Given the description of an element on the screen output the (x, y) to click on. 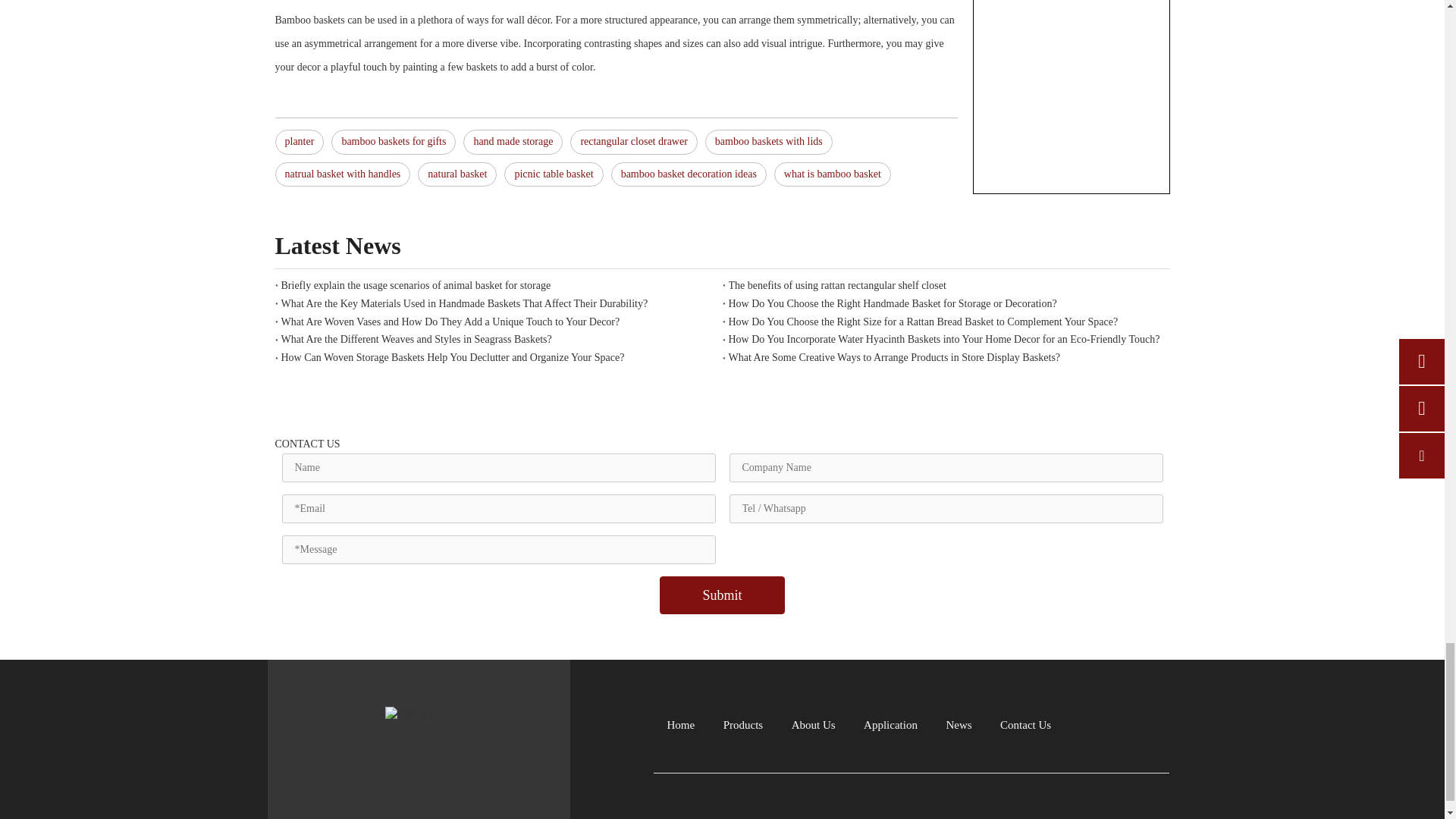
bamboo basket decoration ideas (689, 174)
picnic table basket (552, 174)
planter (299, 141)
hand made storage (512, 141)
what is bamboo basket (832, 174)
bamboo baskets for gifts (393, 141)
rectangular closet drawer (633, 141)
bamboo baskets with lids (768, 141)
natural basket (456, 174)
